Given the description of an element on the screen output the (x, y) to click on. 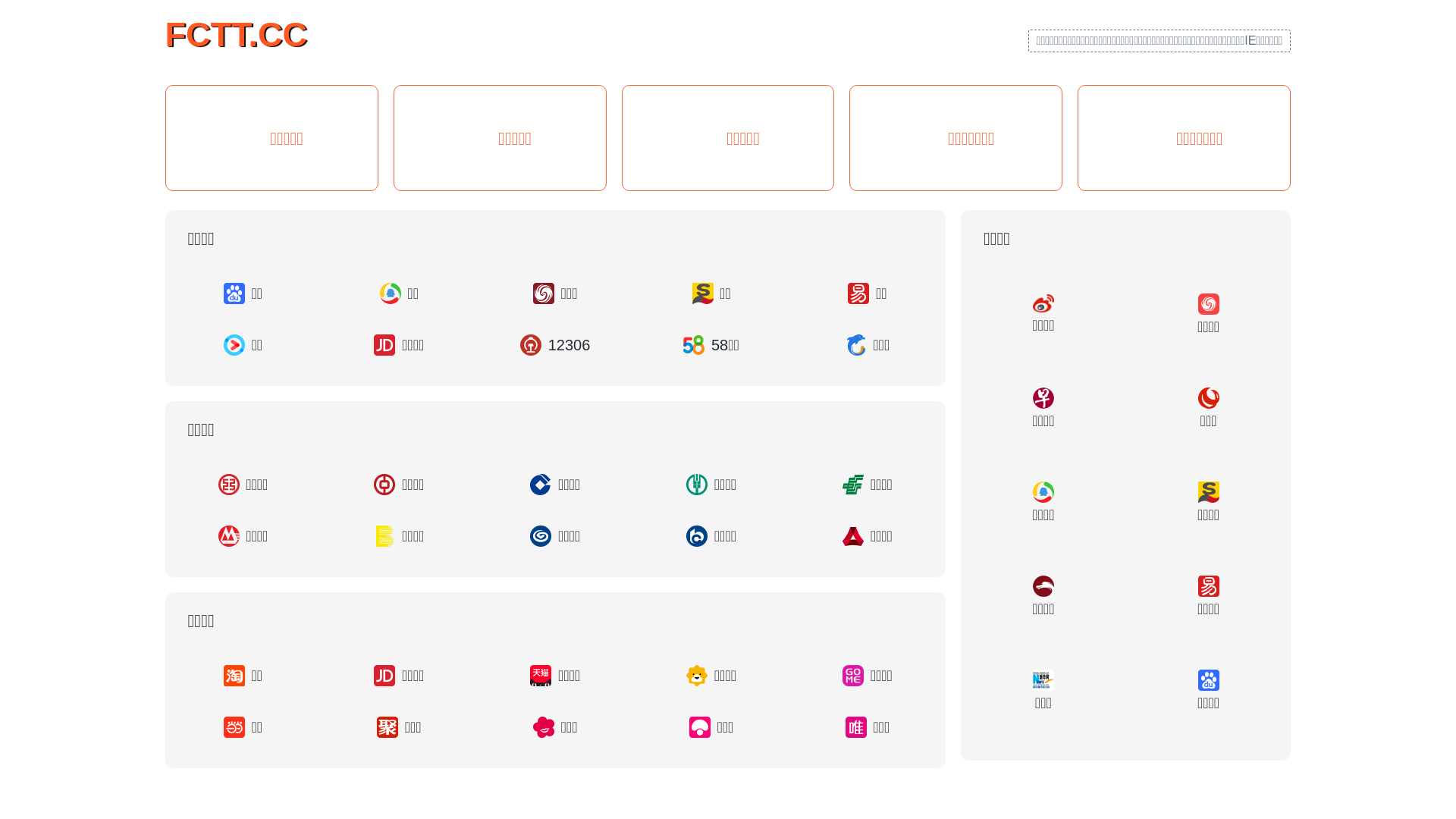
12306 Element type: text (554, 344)
FCTT.CC Element type: text (236, 32)
